Given the description of an element on the screen output the (x, y) to click on. 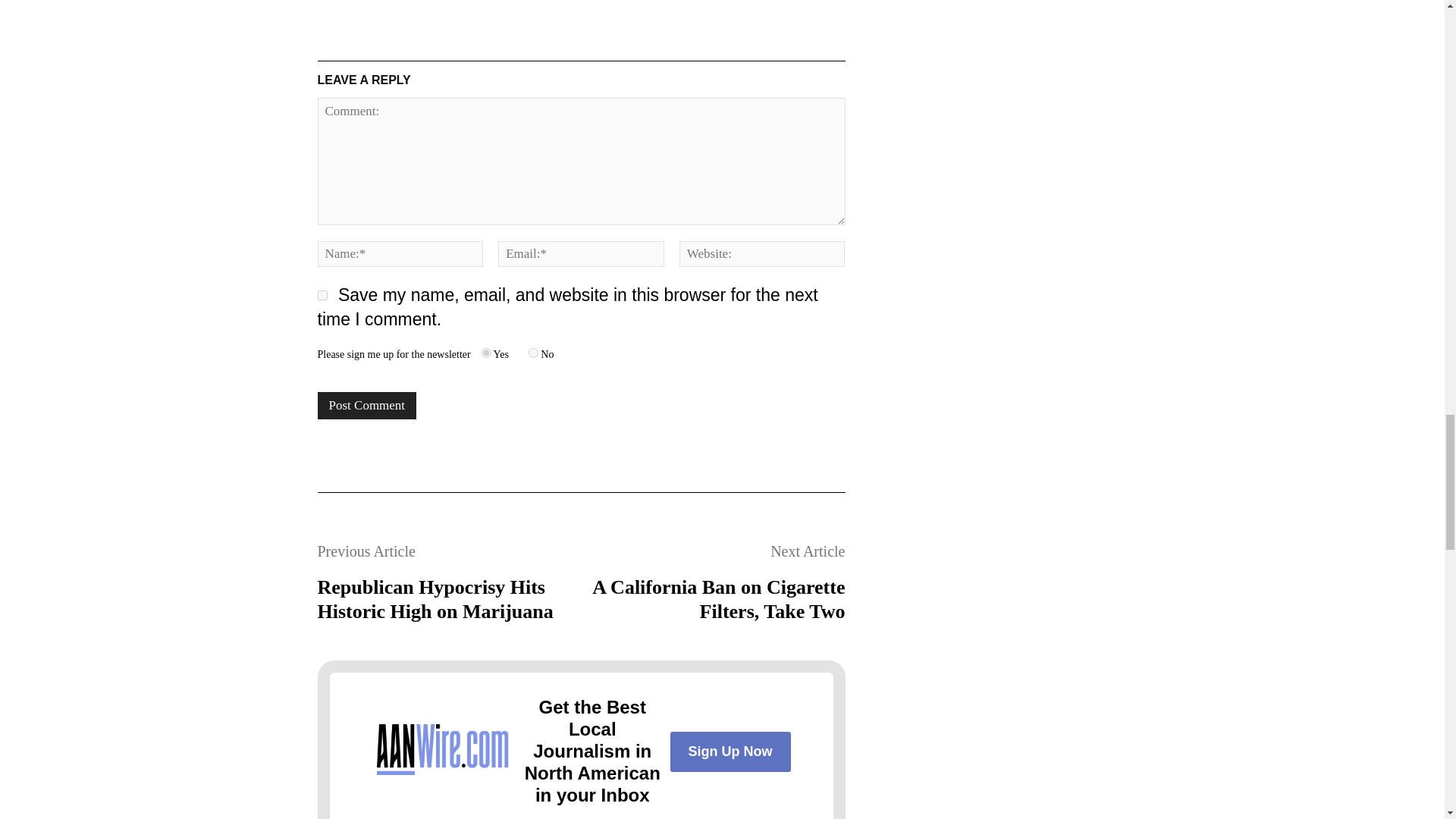
Post Comment (366, 405)
yes (321, 295)
Yes (486, 352)
No (533, 352)
